Given the description of an element on the screen output the (x, y) to click on. 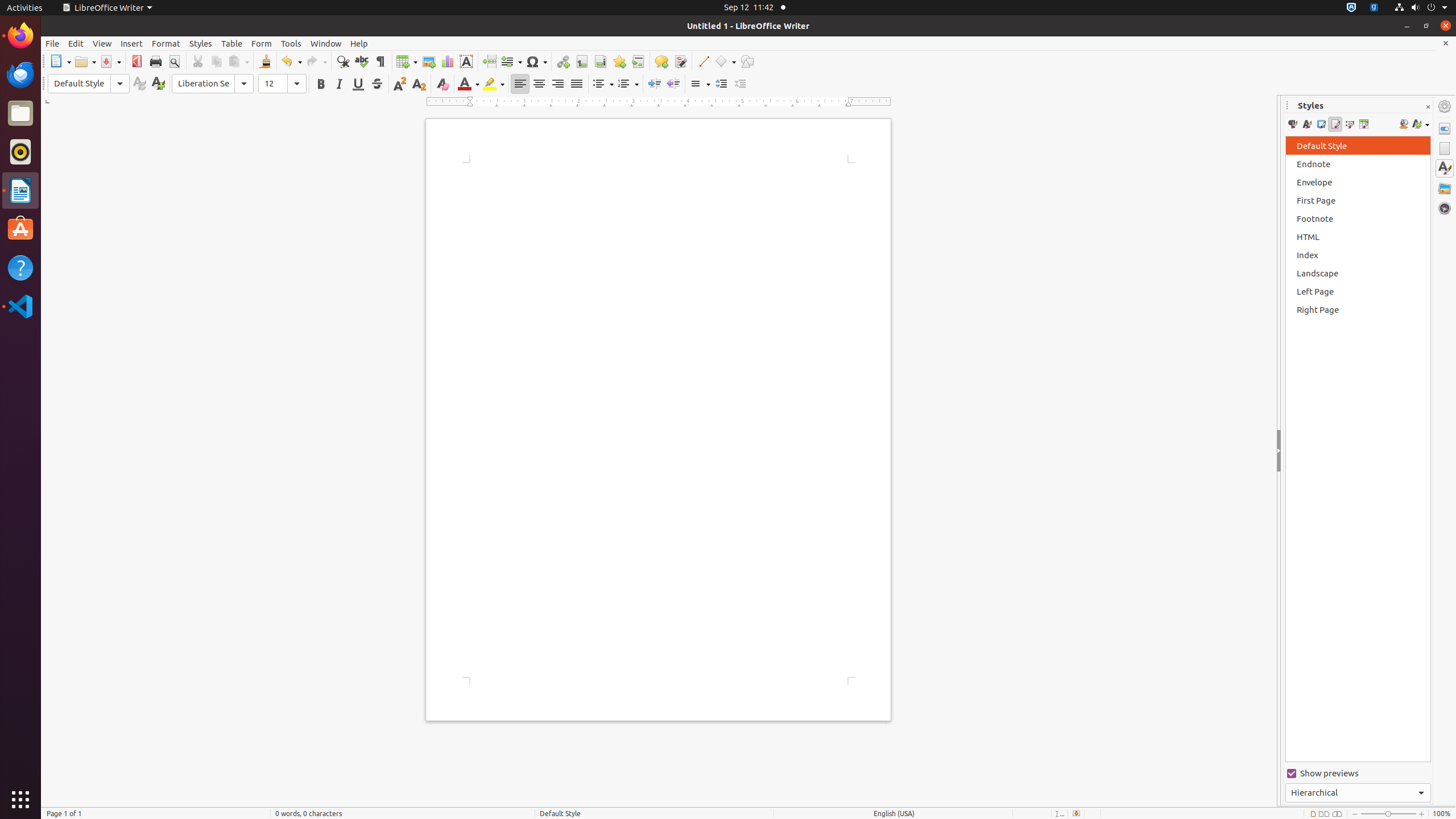
Cross-reference Element type: push-button (637, 61)
Bullets Element type: push-button (602, 83)
Gallery Element type: radio-button (1444, 188)
Page Break Element type: push-button (489, 61)
Frame Styles Element type: push-button (1320, 123)
